Given the description of an element on the screen output the (x, y) to click on. 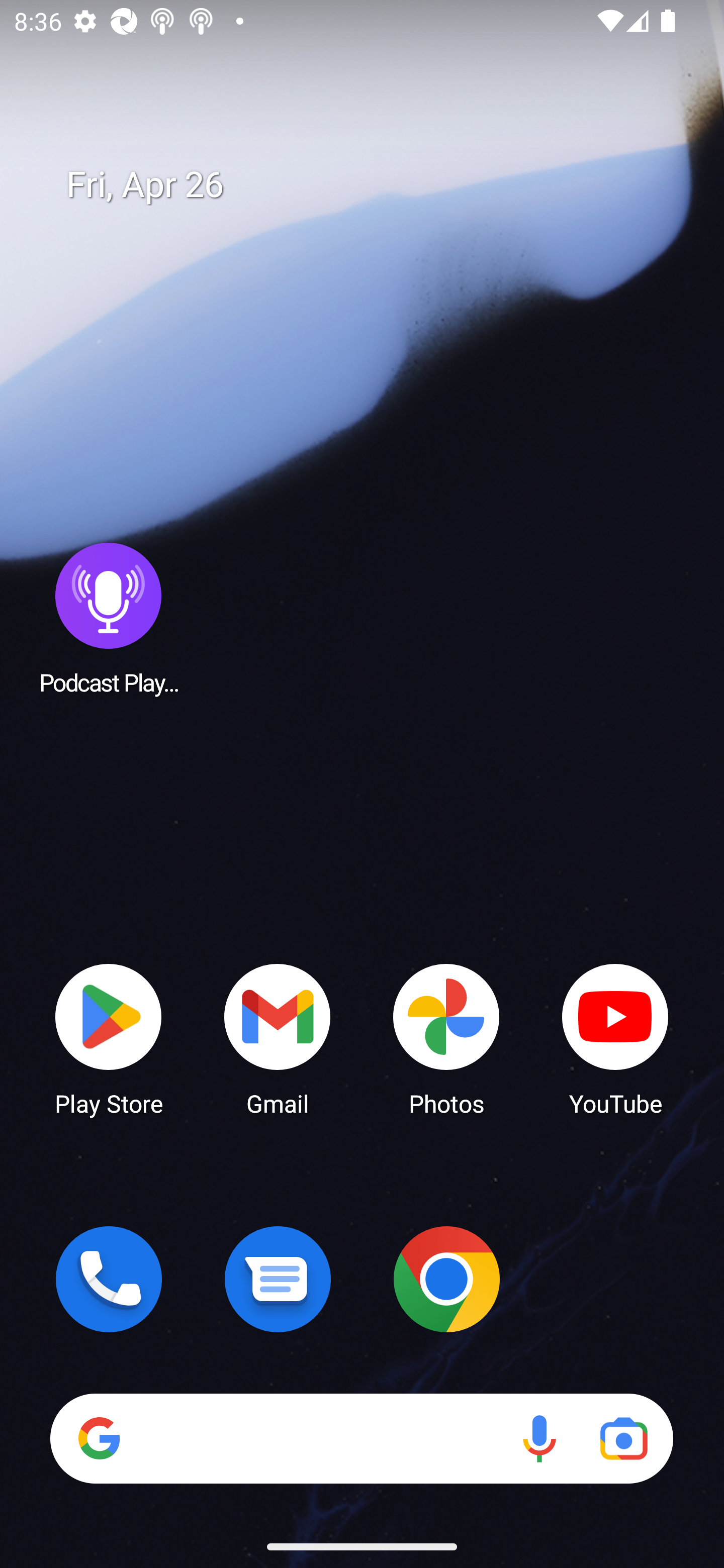
Fri, Apr 26 (375, 184)
Podcast Player (108, 617)
Play Store (108, 1038)
Gmail (277, 1038)
Photos (445, 1038)
YouTube (615, 1038)
Phone (108, 1279)
Messages (277, 1279)
Chrome (446, 1279)
Search Voice search Google Lens (361, 1438)
Voice search (539, 1438)
Google Lens (623, 1438)
